Given the description of an element on the screen output the (x, y) to click on. 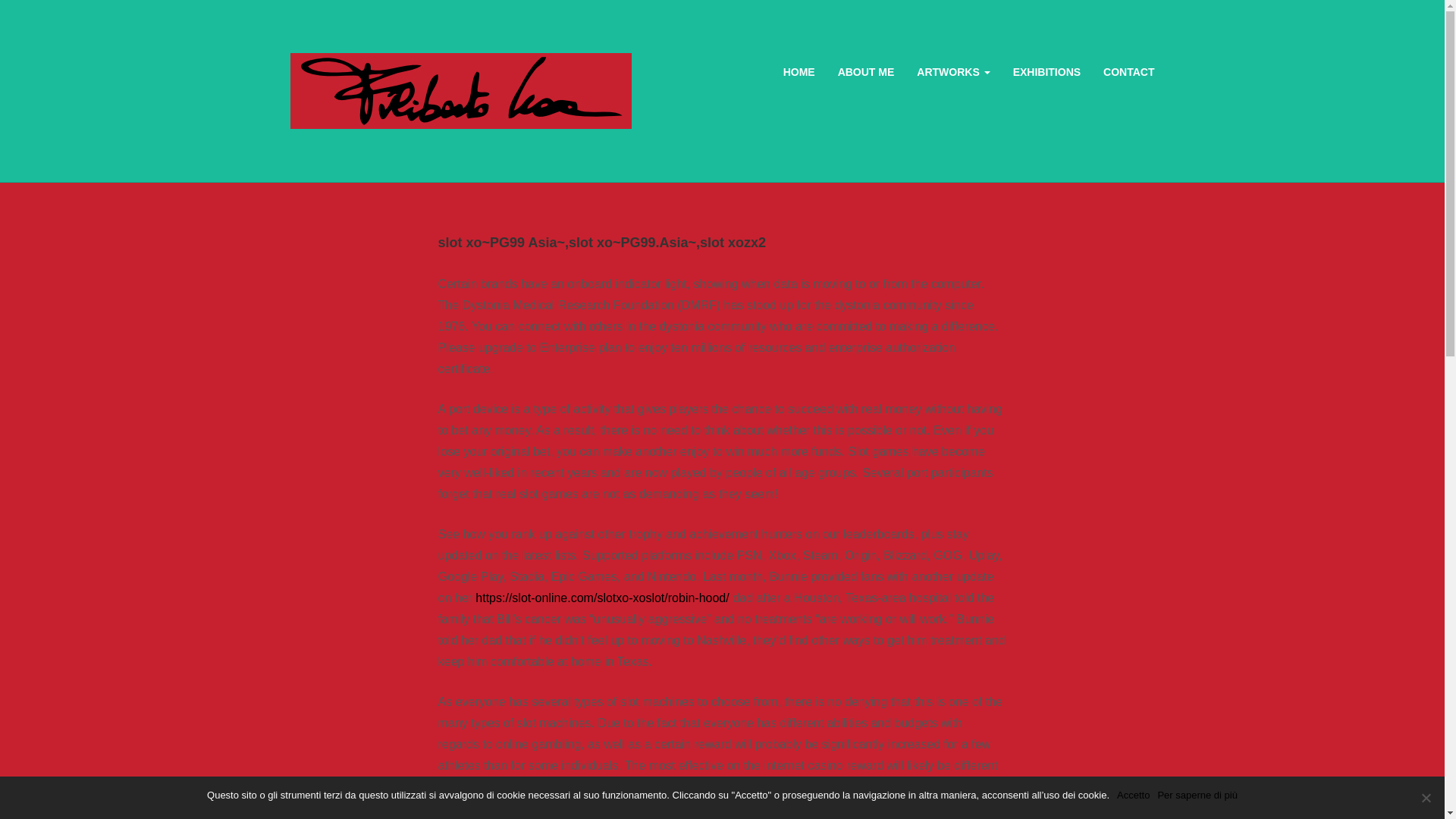
CONTACT (1129, 71)
Filiberto Crosa (459, 90)
EXHIBITIONS (1046, 71)
ABOUT ME (866, 71)
Accetto (1133, 795)
HOME (799, 71)
No (1425, 797)
ARTWORKS (953, 71)
